Given the description of an element on the screen output the (x, y) to click on. 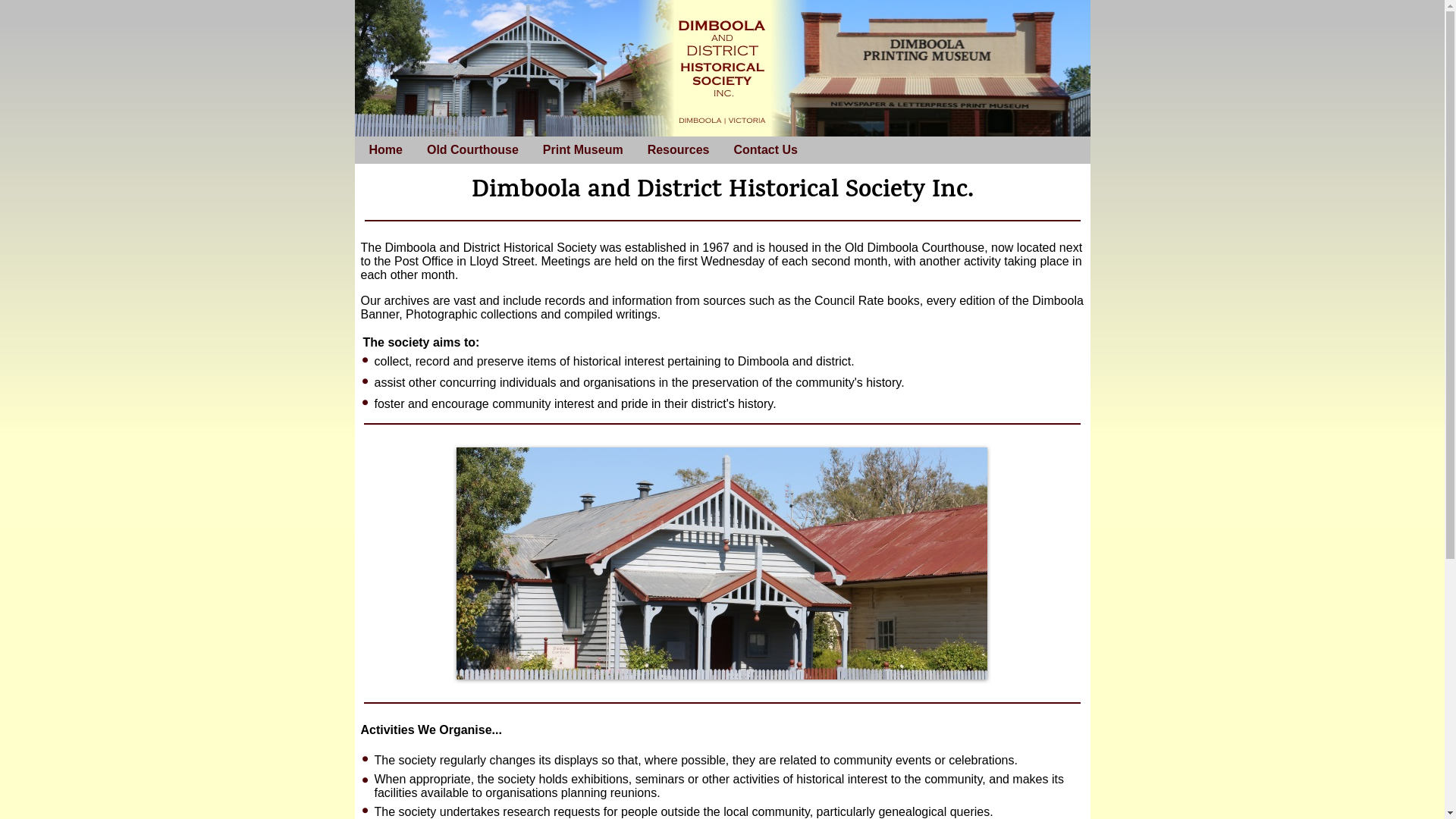
Home Element type: text (385, 149)
Print Museum Element type: text (582, 149)
Contact Us Element type: text (764, 149)
Old Courthouse Element type: text (472, 149)
Resources Element type: text (678, 149)
